Given the description of an element on the screen output the (x, y) to click on. 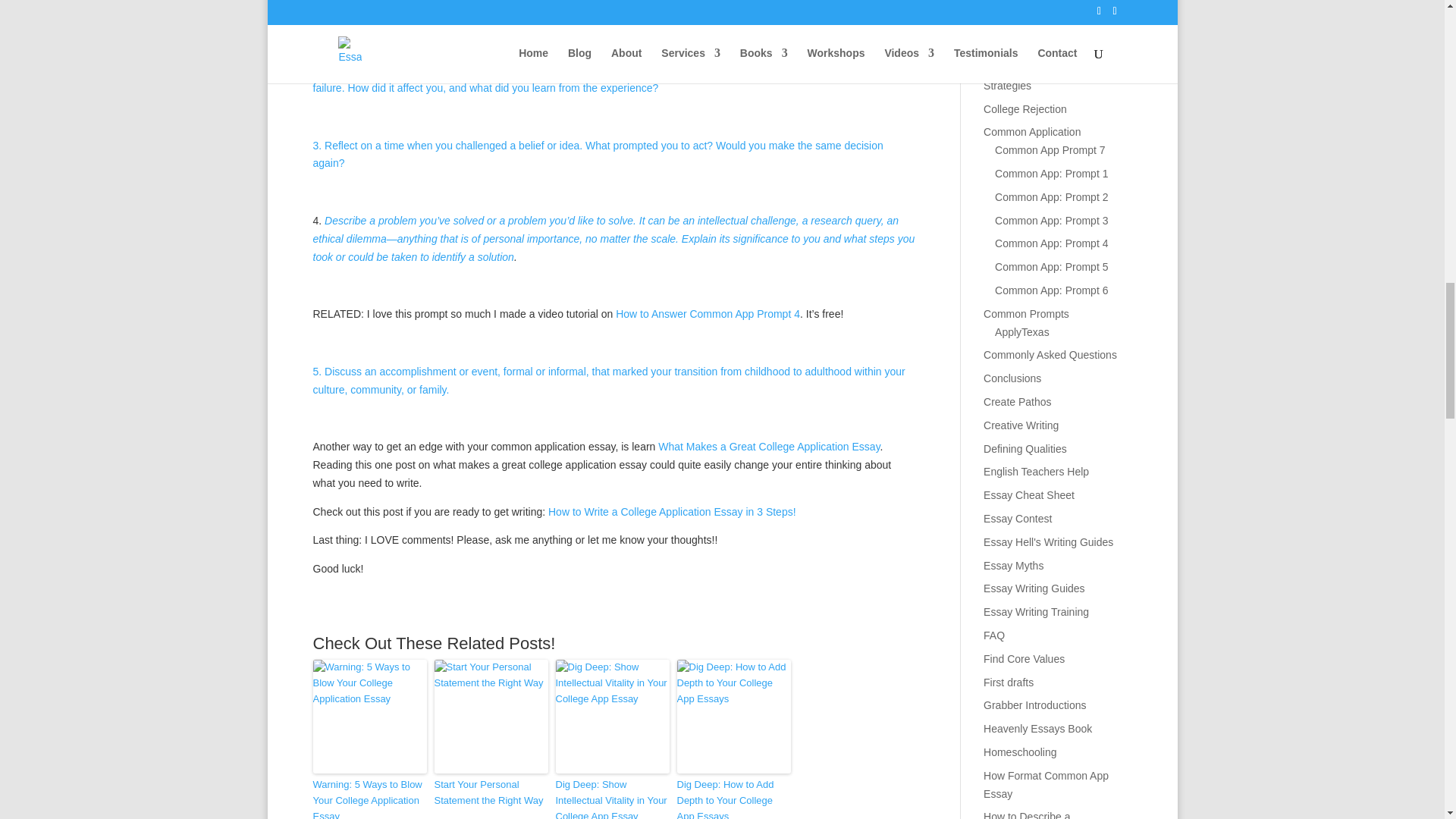
How to Answer Common App Prompt 4 (707, 313)
Warning: 5 Ways to Blow Your College Application Essay (369, 798)
Start Your Personal Statement the Right Way (490, 793)
What Makes a Great College Application Essay (768, 446)
How to Write a College Application Essay in 3 Steps! (672, 510)
